Given the description of an element on the screen output the (x, y) to click on. 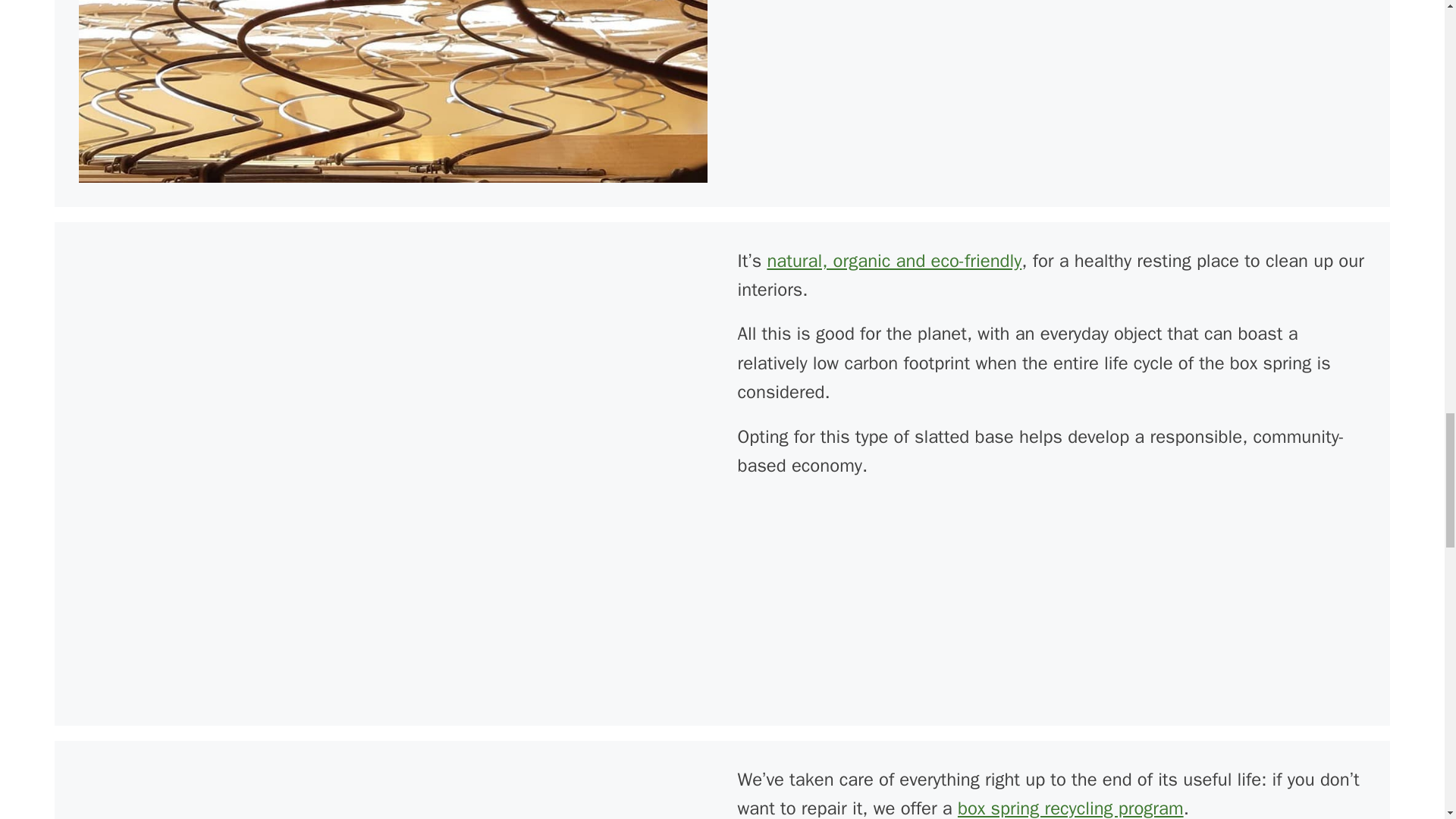
box spring recycling program (1070, 807)
natural, organic and eco-friendly (894, 260)
